Given the description of an element on the screen output the (x, y) to click on. 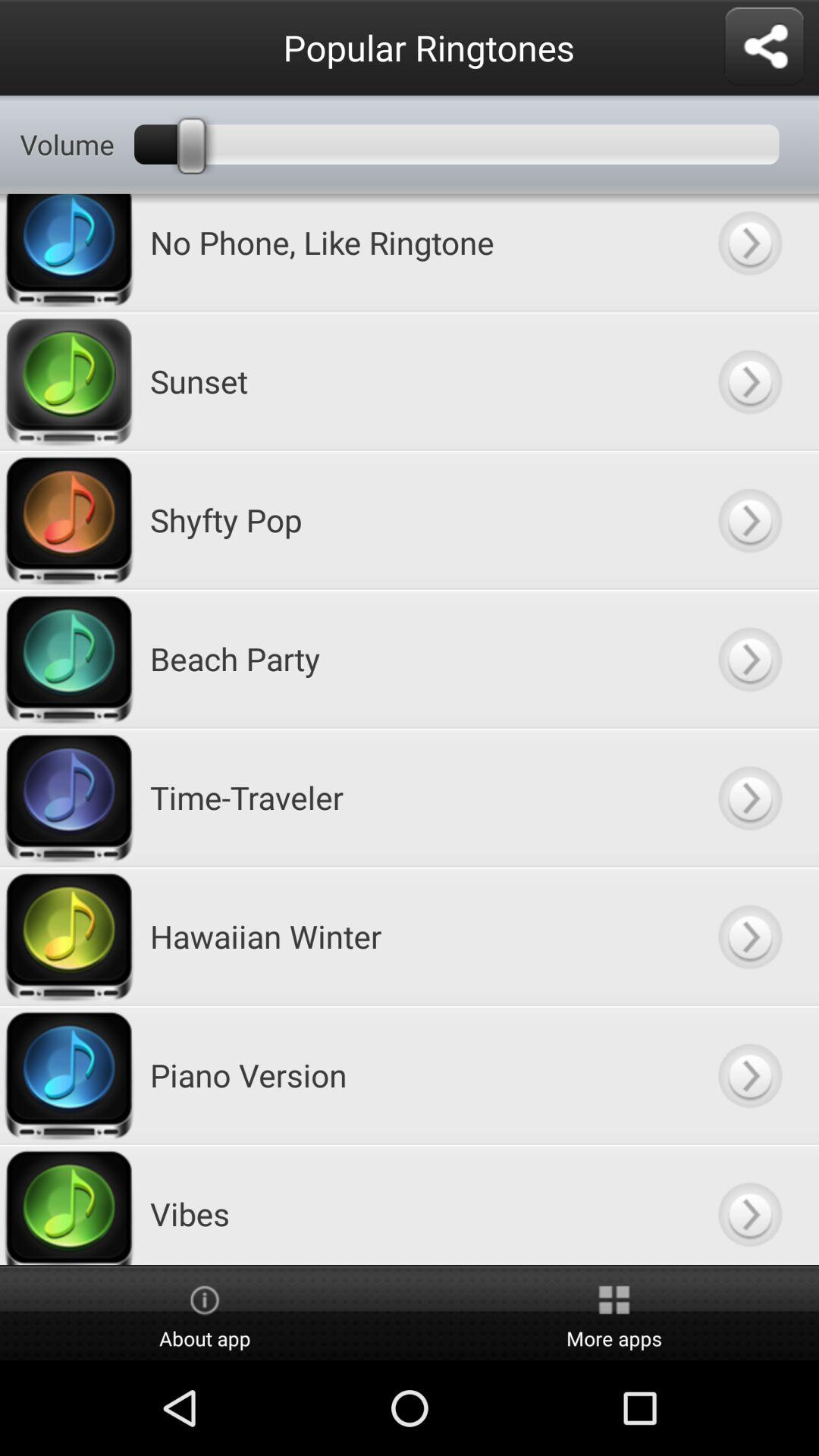
go to next button (749, 936)
